Given the description of an element on the screen output the (x, y) to click on. 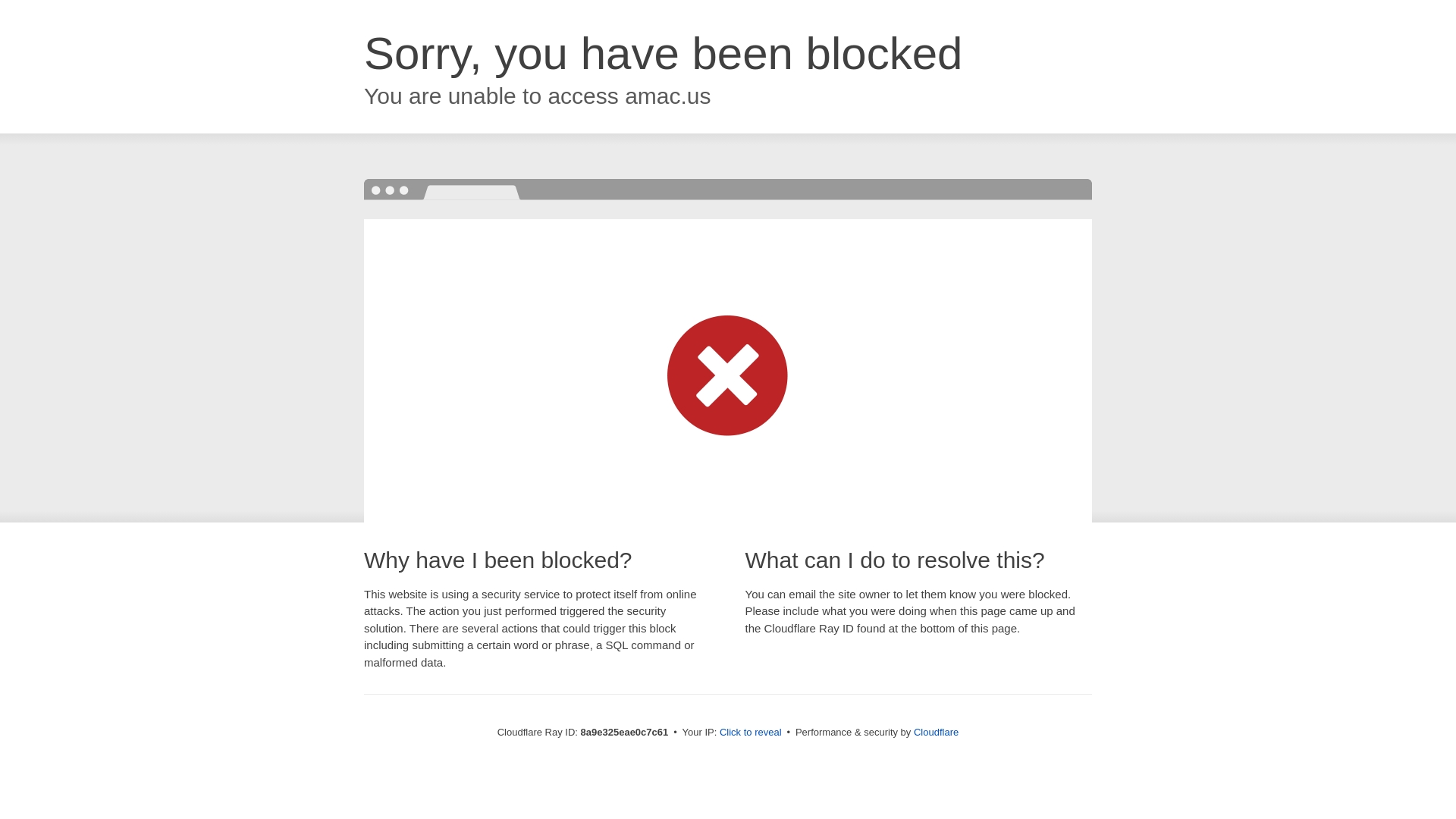
Cloudflare (936, 731)
Click to reveal (750, 732)
